Given the description of an element on the screen output the (x, y) to click on. 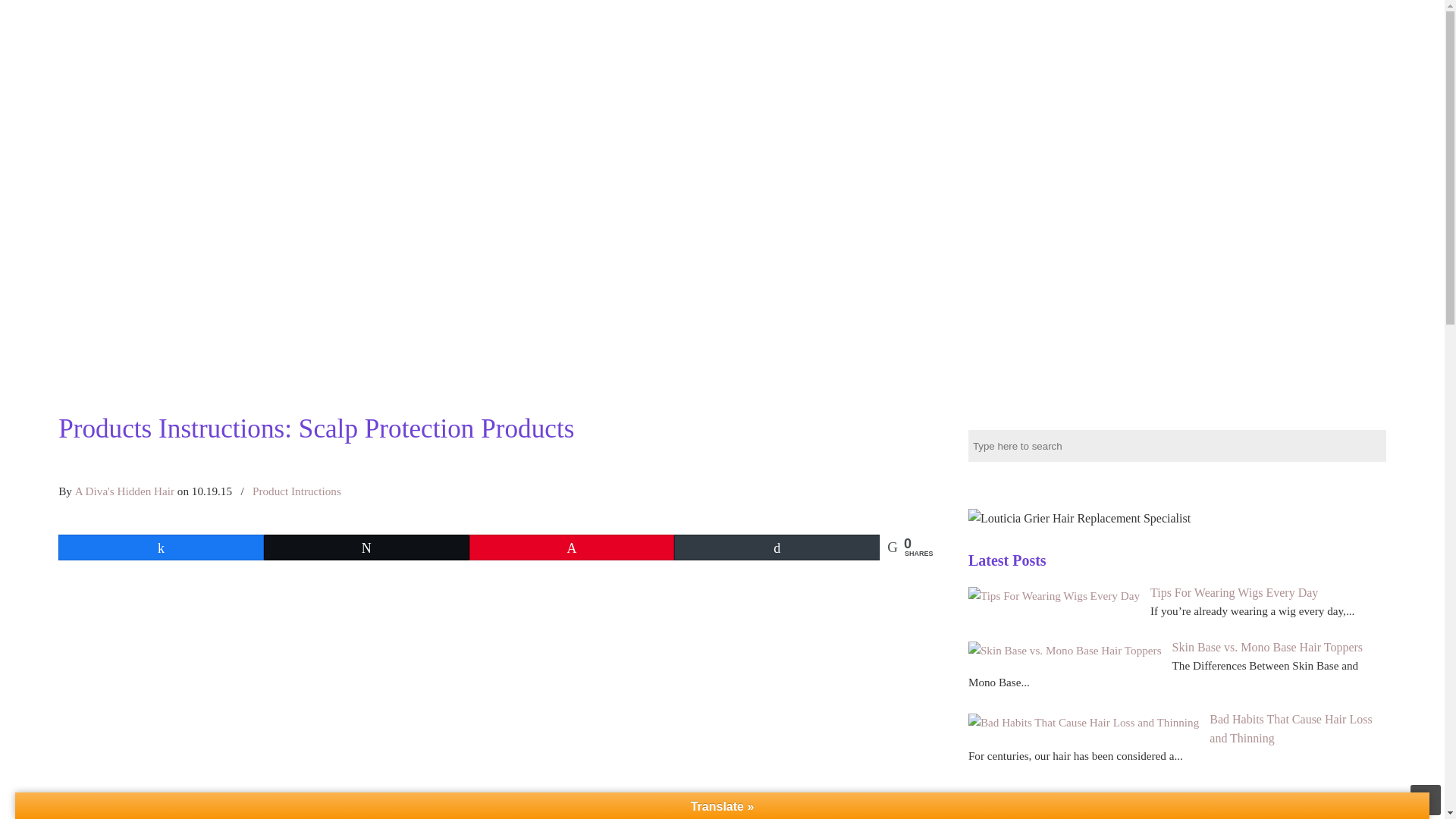
Skin Base vs. Mono Base Hair Toppers (1267, 646)
HOME (885, 20)
ABOUT (1162, 20)
Search (1374, 440)
Tips For Wearing Wigs Every Day (1054, 594)
Bad Habits That Cause Hair Loss and Thinning (1290, 727)
BLOG (1369, 20)
Tips For Wearing Wigs Every Day (1233, 592)
A Diva's Hidden Hair Manufacturer (129, 19)
Posts by A Diva's Hidden Hair (124, 491)
Skin Base vs. Mono Base Hair Toppers (1064, 649)
A Diva's Hidden Hair Manufacturer (129, 19)
CONTACT (1300, 20)
Product Intructions (295, 491)
